Given the description of an element on the screen output the (x, y) to click on. 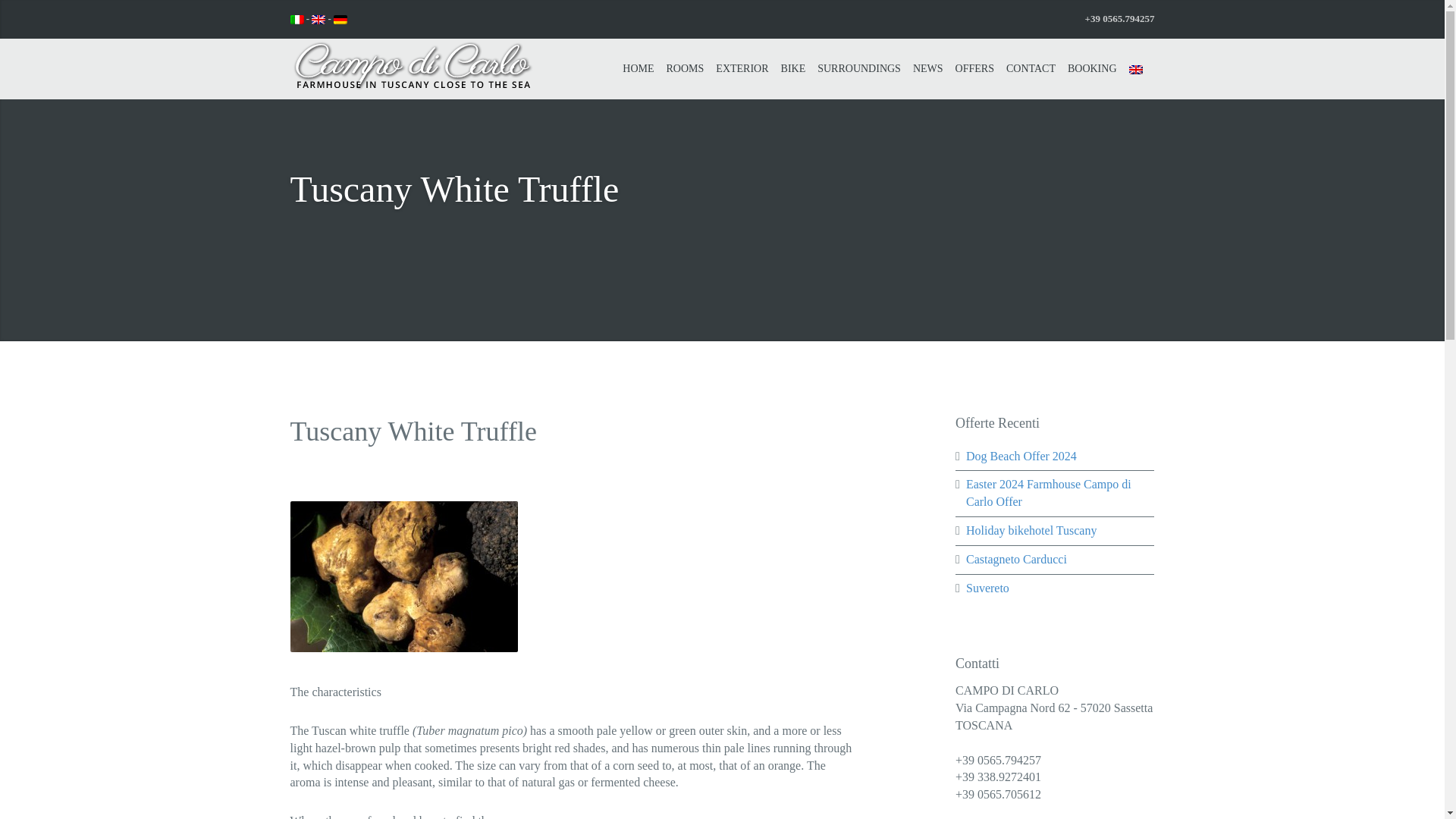
Dog Beach Offer 2024 (1021, 455)
ROOMS (685, 68)
EXTERIOR (742, 68)
OFFERS (974, 68)
HOME (638, 68)
BOOKING (1091, 68)
English (317, 19)
Suvereto (987, 587)
SURROUNDINGS (858, 68)
CONTACT (1030, 68)
Castagneto Carducci (1016, 558)
English (295, 19)
BIKE (793, 68)
Holiday bikehotel Tuscany (1031, 530)
English (340, 19)
